Given the description of an element on the screen output the (x, y) to click on. 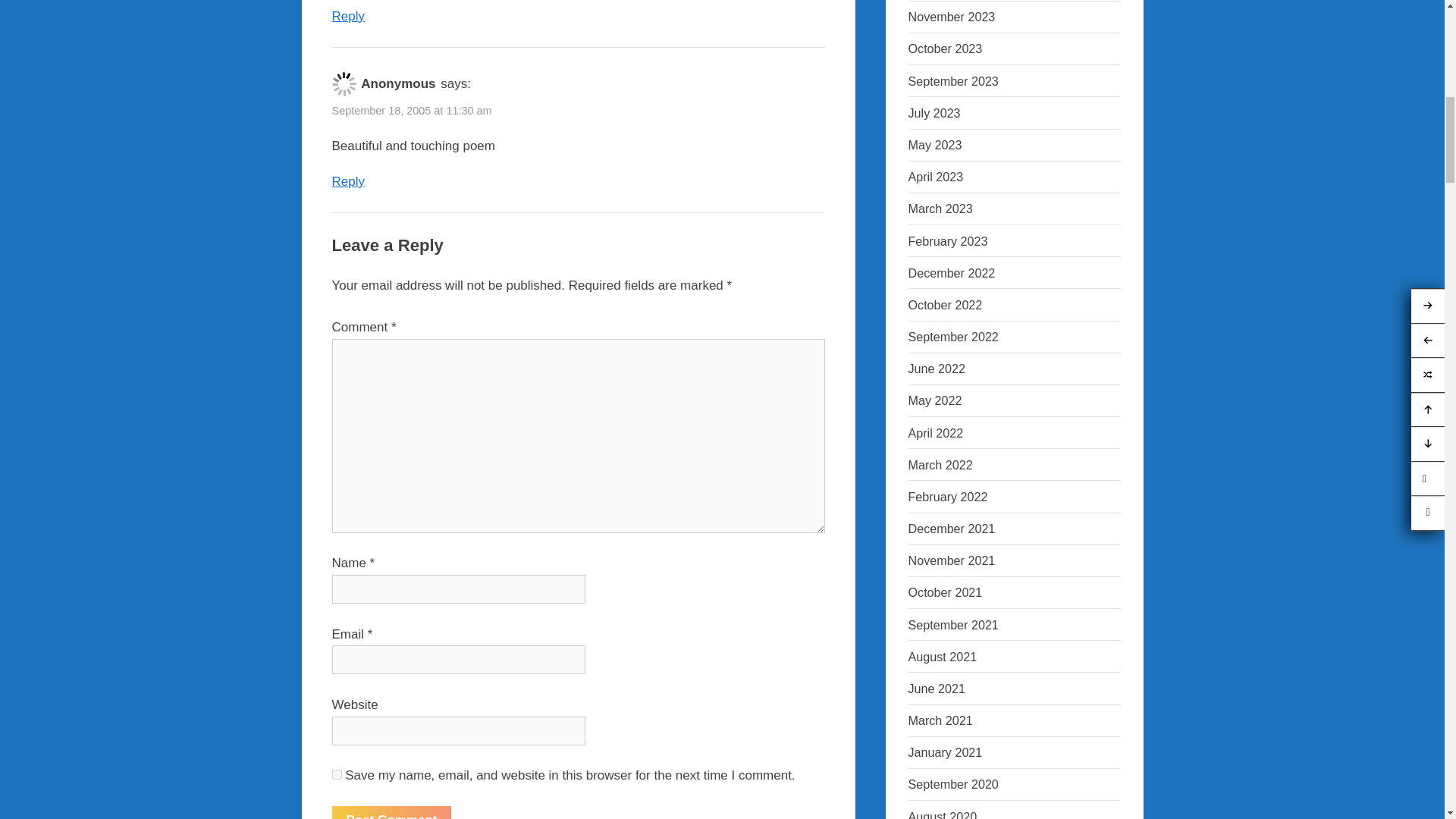
September 18, 2005 at 11:30 am (411, 110)
October 2023 (945, 48)
December 2022 (951, 273)
Post Comment (391, 812)
May 2023 (935, 144)
April 2022 (935, 432)
September 2022 (953, 336)
Reply (348, 16)
Reply (348, 181)
Post Comment (391, 812)
October 2022 (945, 305)
February 2022 (948, 496)
February 2023 (948, 241)
November 2023 (951, 16)
July 2023 (934, 112)
